Given the description of an element on the screen output the (x, y) to click on. 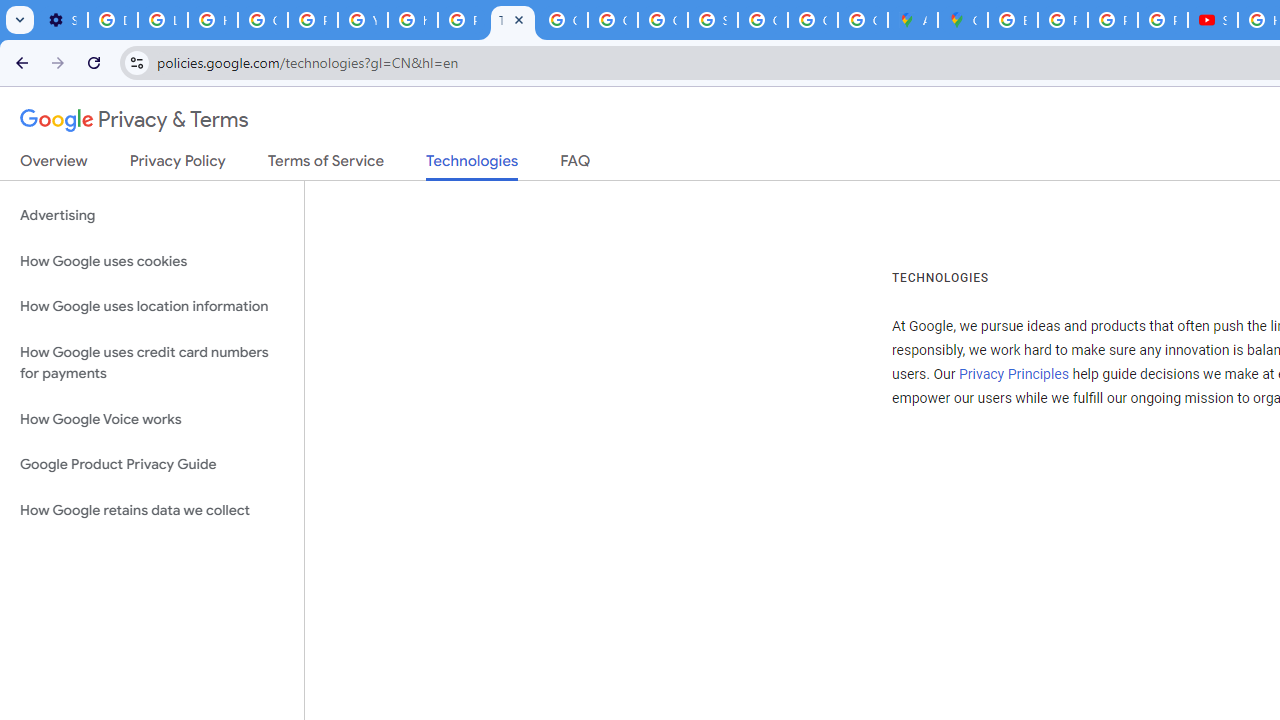
Delete photos & videos - Computer - Google Photos Help (113, 20)
Privacy Help Center - Policies Help (1062, 20)
https://scholar.google.com/ (412, 20)
Learn how to find your photos - Google Photos Help (163, 20)
How Google retains data we collect (152, 510)
Privacy Help Center - Policies Help (462, 20)
